Given the description of an element on the screen output the (x, y) to click on. 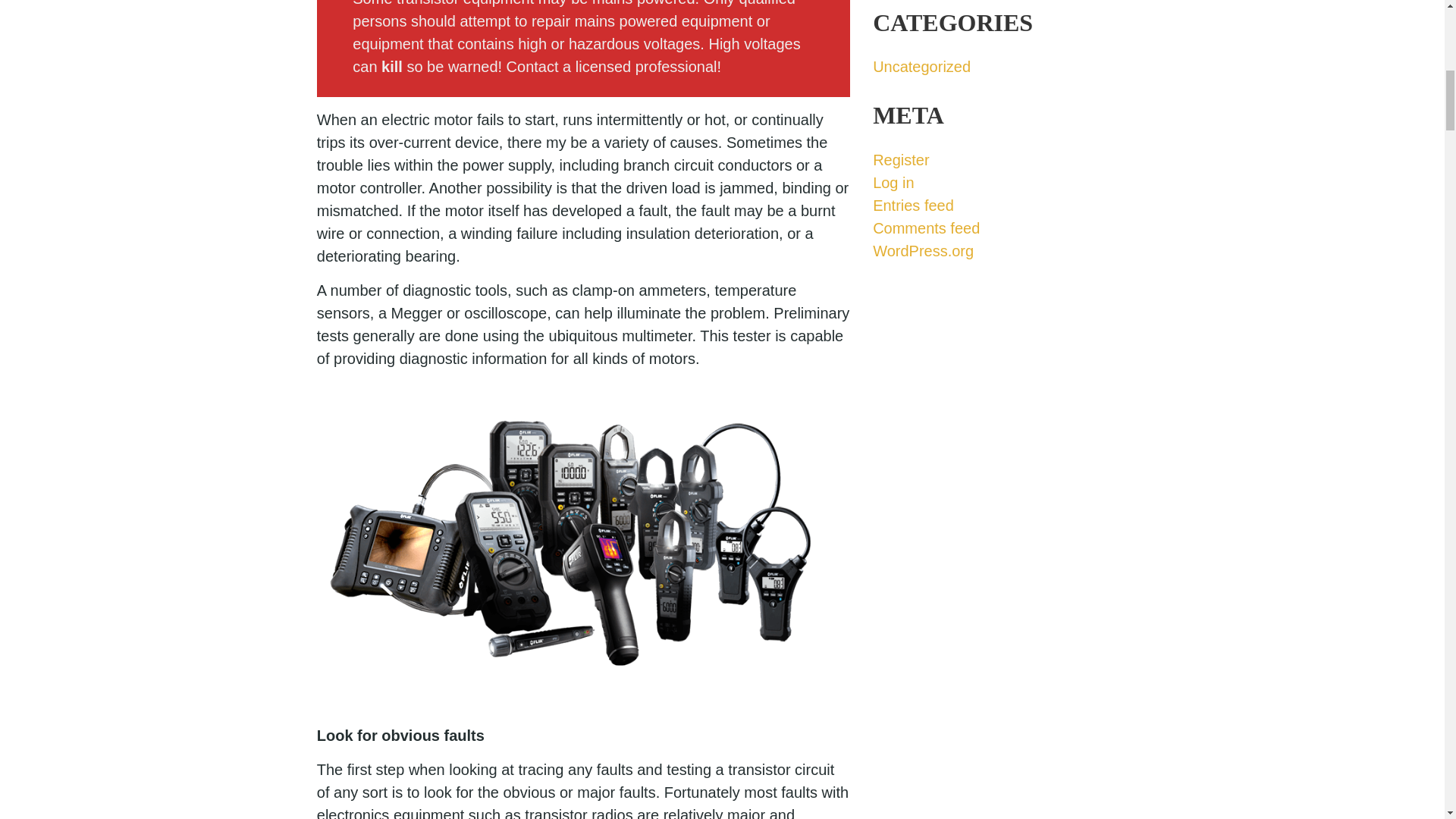
Register (900, 159)
WordPress.org (923, 250)
Uncategorized (921, 66)
Log in (893, 182)
Entries feed (912, 205)
Comments feed (925, 228)
